Given the description of an element on the screen output the (x, y) to click on. 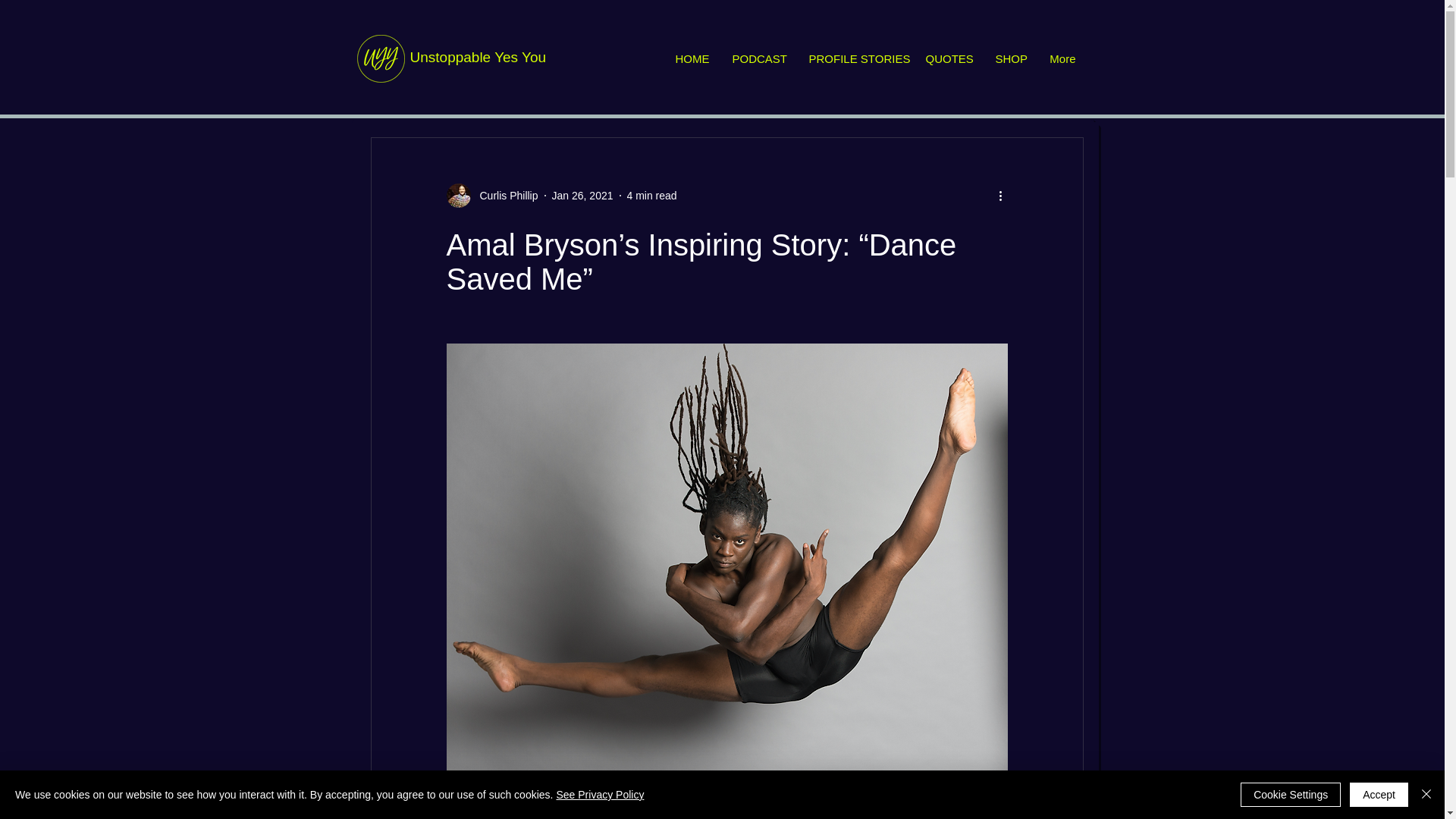
HOME (691, 59)
Cookie Settings (1290, 794)
QUOTES (949, 59)
PODCAST (758, 59)
See Privacy Policy (599, 794)
PROFILE STORIES (855, 59)
Curlis Phillip (503, 195)
4 min read (651, 195)
Jan 26, 2021 (581, 195)
Curlis Phillip (491, 195)
